Given the description of an element on the screen output the (x, y) to click on. 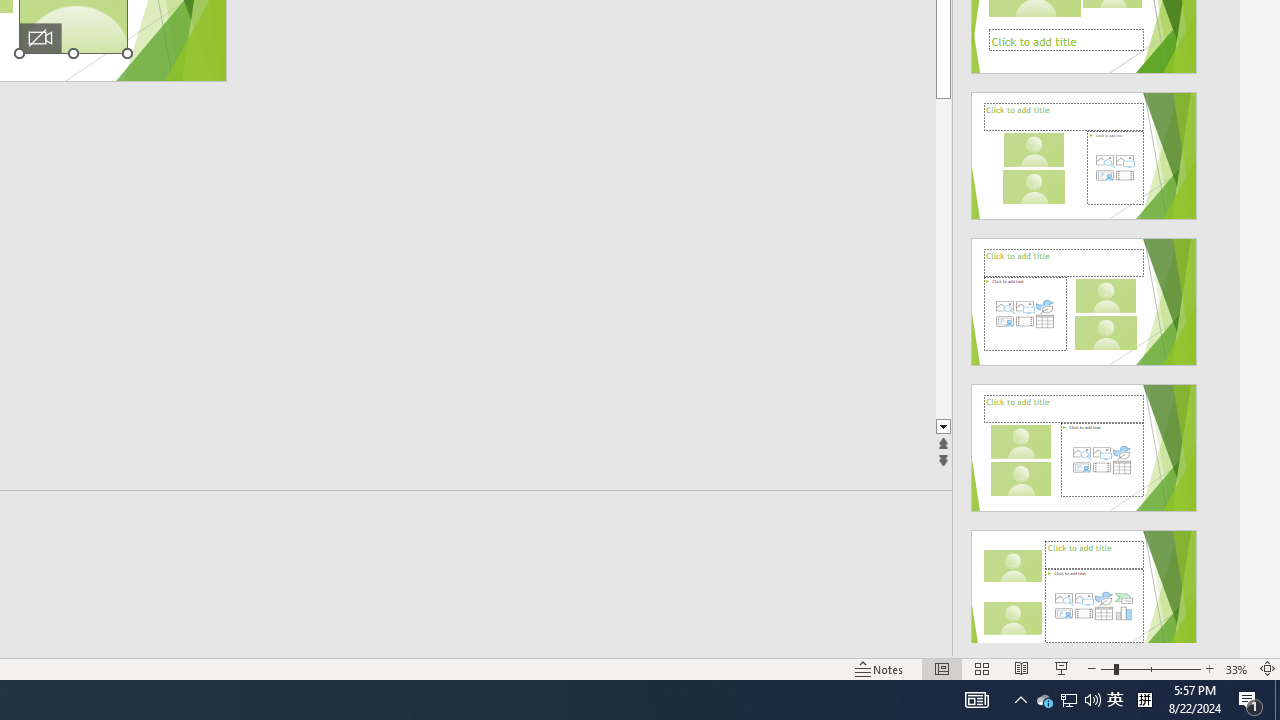
Design Idea (1083, 587)
Zoom 33% (1236, 668)
